Given the description of an element on the screen output the (x, y) to click on. 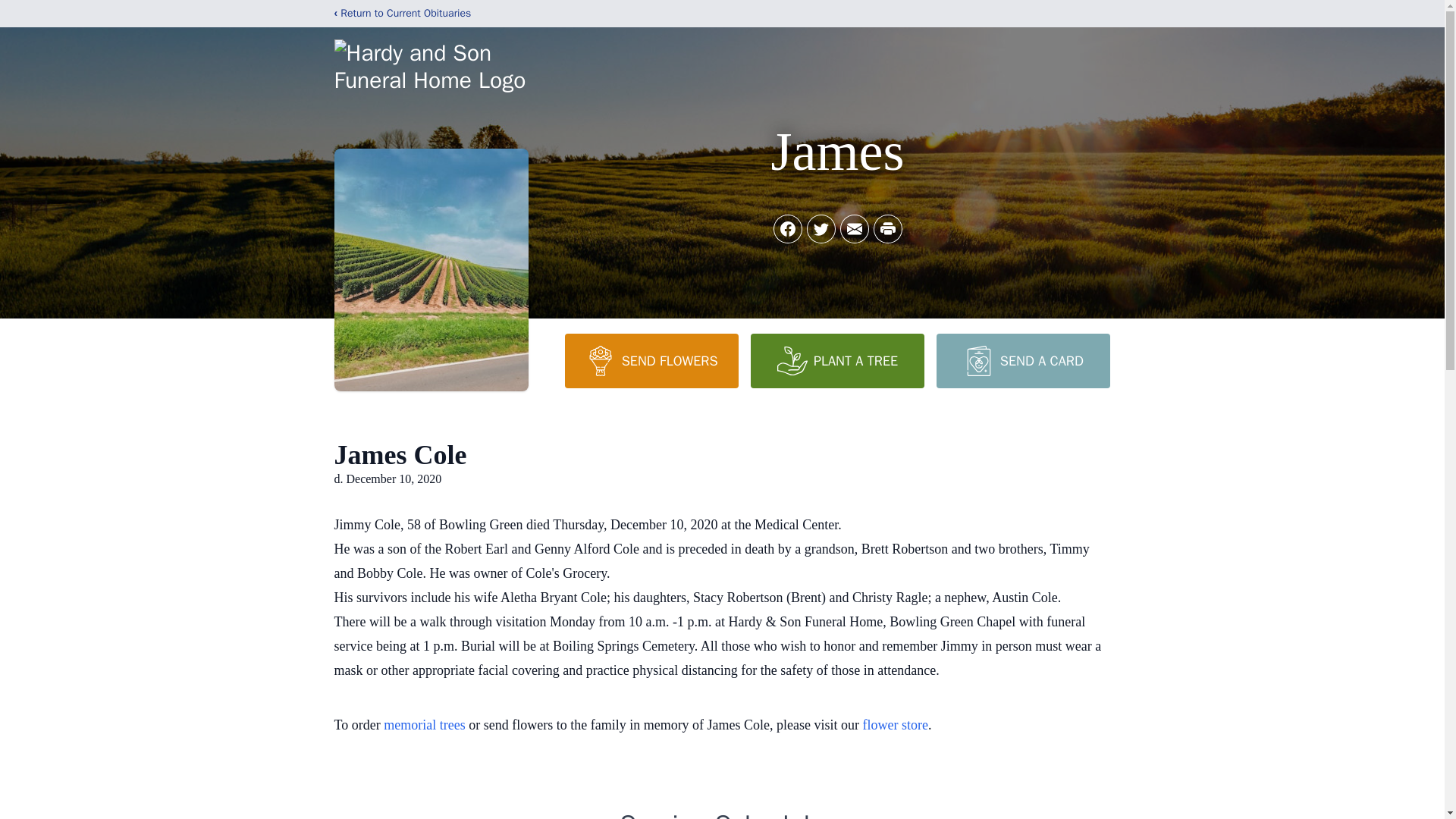
PLANT A TREE (837, 360)
memorial trees (424, 724)
SEND A CARD (1022, 360)
SEND FLOWERS (651, 360)
flower store (895, 724)
